Given the description of an element on the screen output the (x, y) to click on. 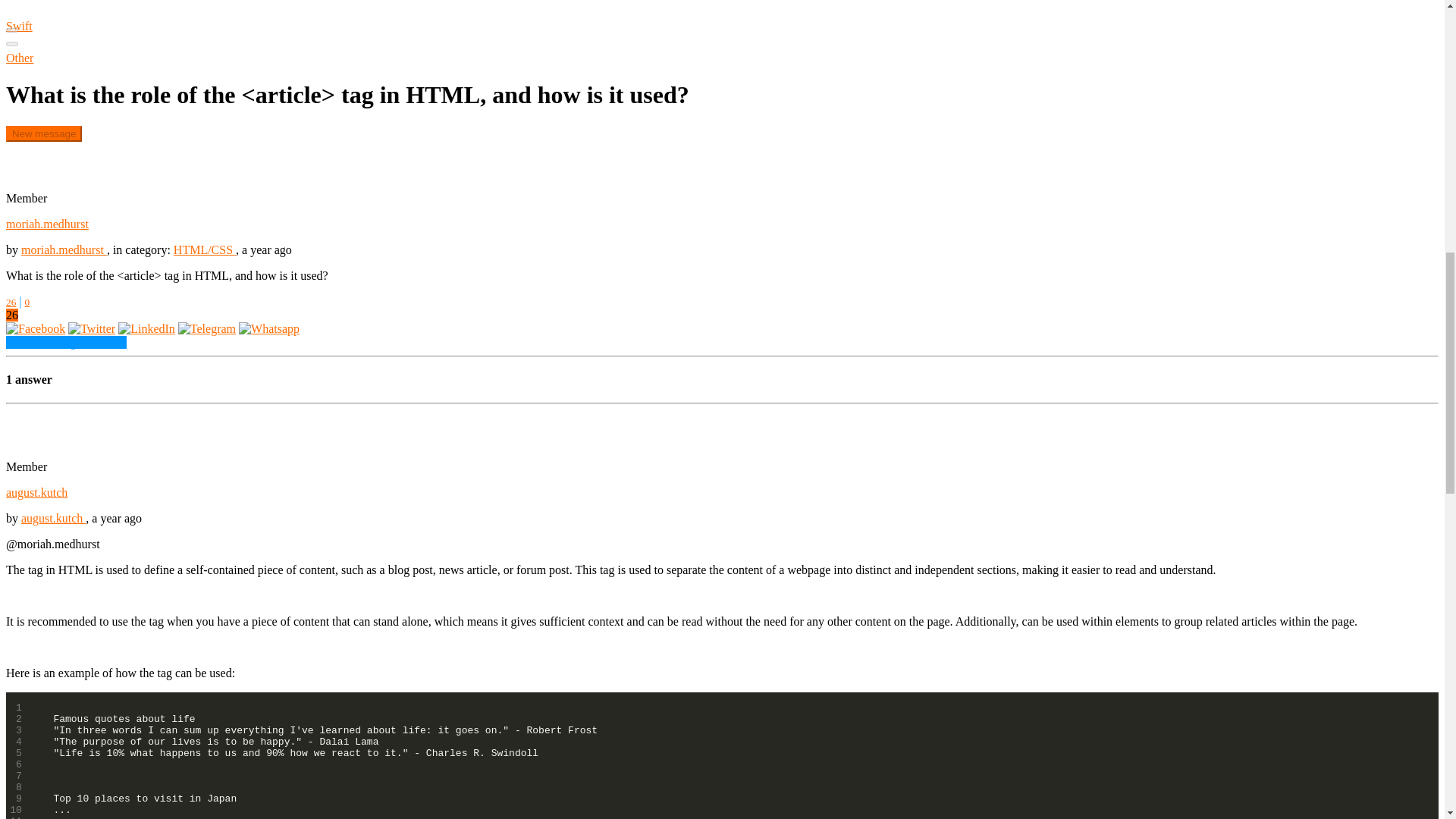
New message (43, 133)
26 likes (10, 301)
Twitter (91, 328)
Telegram (206, 328)
no dislikes (27, 301)
LinkedIn (145, 328)
Facebook (35, 328)
Whatsapp (268, 328)
moriah.medhurst (63, 249)
